Given the description of an element on the screen output the (x, y) to click on. 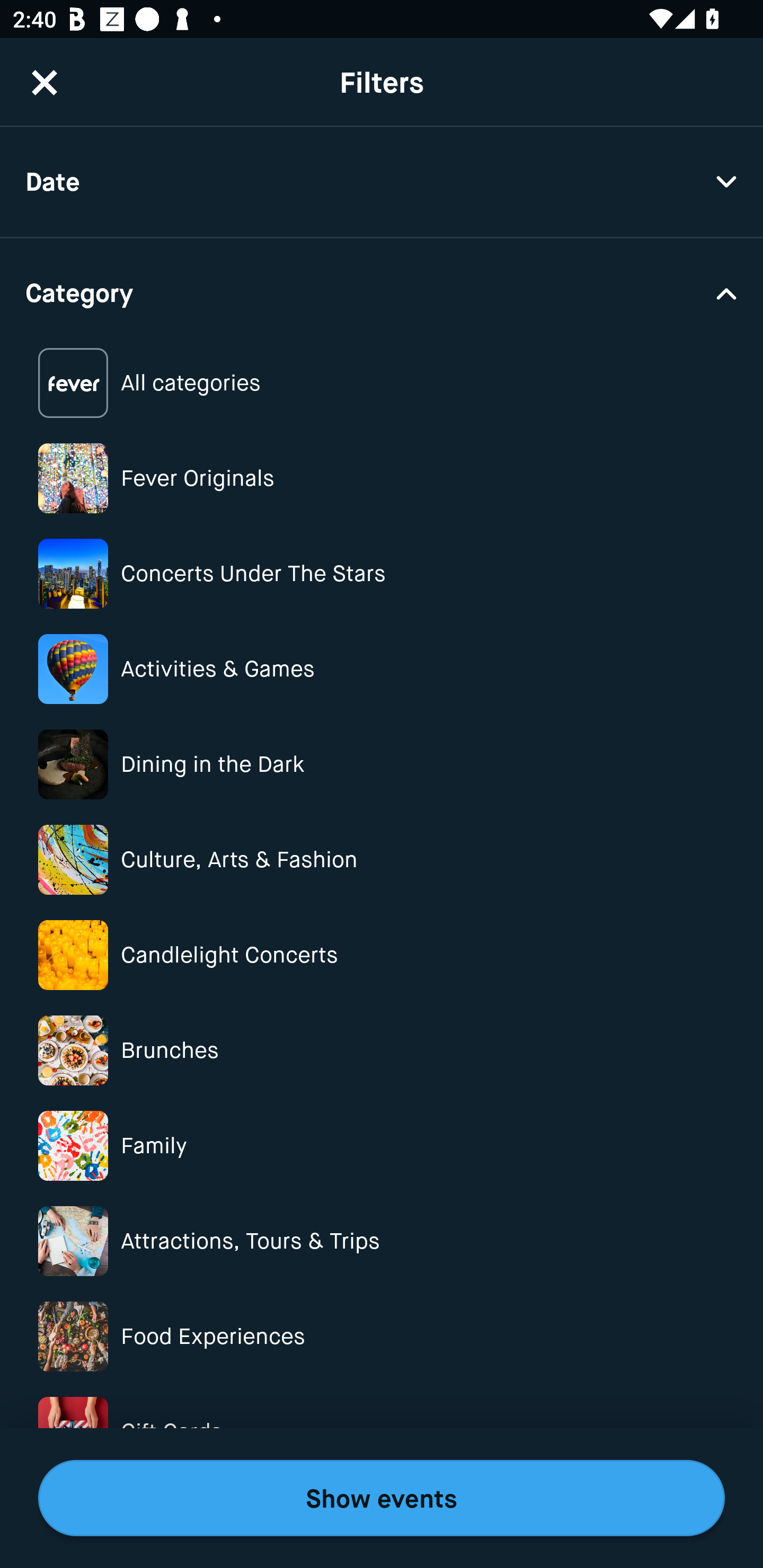
CloseButton (44, 82)
Date Drop Down Arrow (381, 182)
Category Drop Down Arrow (381, 291)
Category Image All categories (381, 382)
Category Image Fever Originals (381, 477)
Category Image Concerts Under The Stars (381, 573)
Category Image Activities & Games (381, 668)
Category Image Dining in the Dark (381, 763)
Category Image Culture, Arts & Fashion (381, 859)
Category Image Candlelight Concerts (381, 954)
Category Image Brunches (381, 1050)
Category Image Family (381, 1145)
Category Image Attractions, Tours & Trips (381, 1240)
Category Image Food Experiences (381, 1336)
Show events (381, 1497)
